Given the description of an element on the screen output the (x, y) to click on. 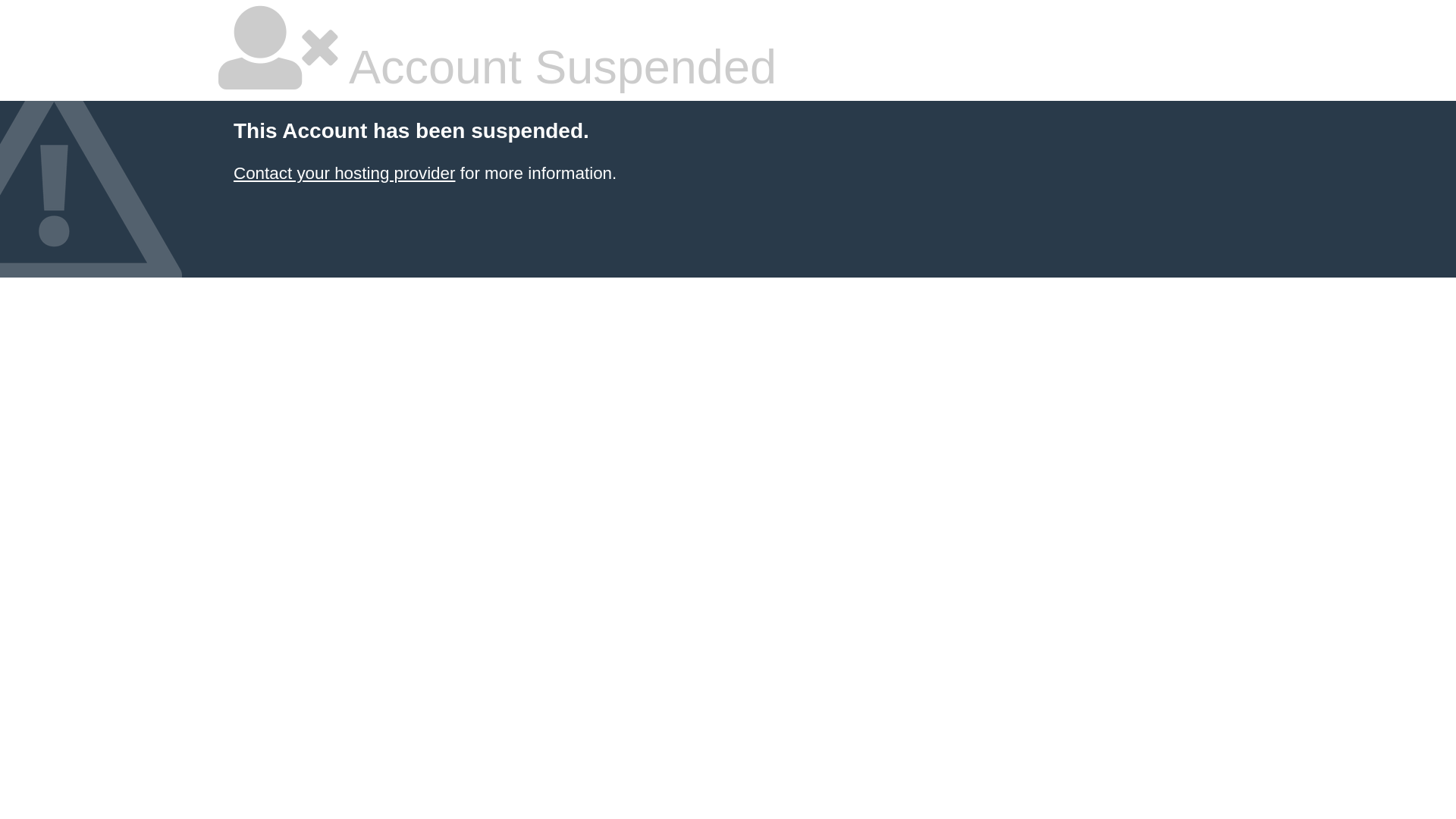
Contact your hosting provider Element type: text (344, 172)
